Given the description of an element on the screen output the (x, y) to click on. 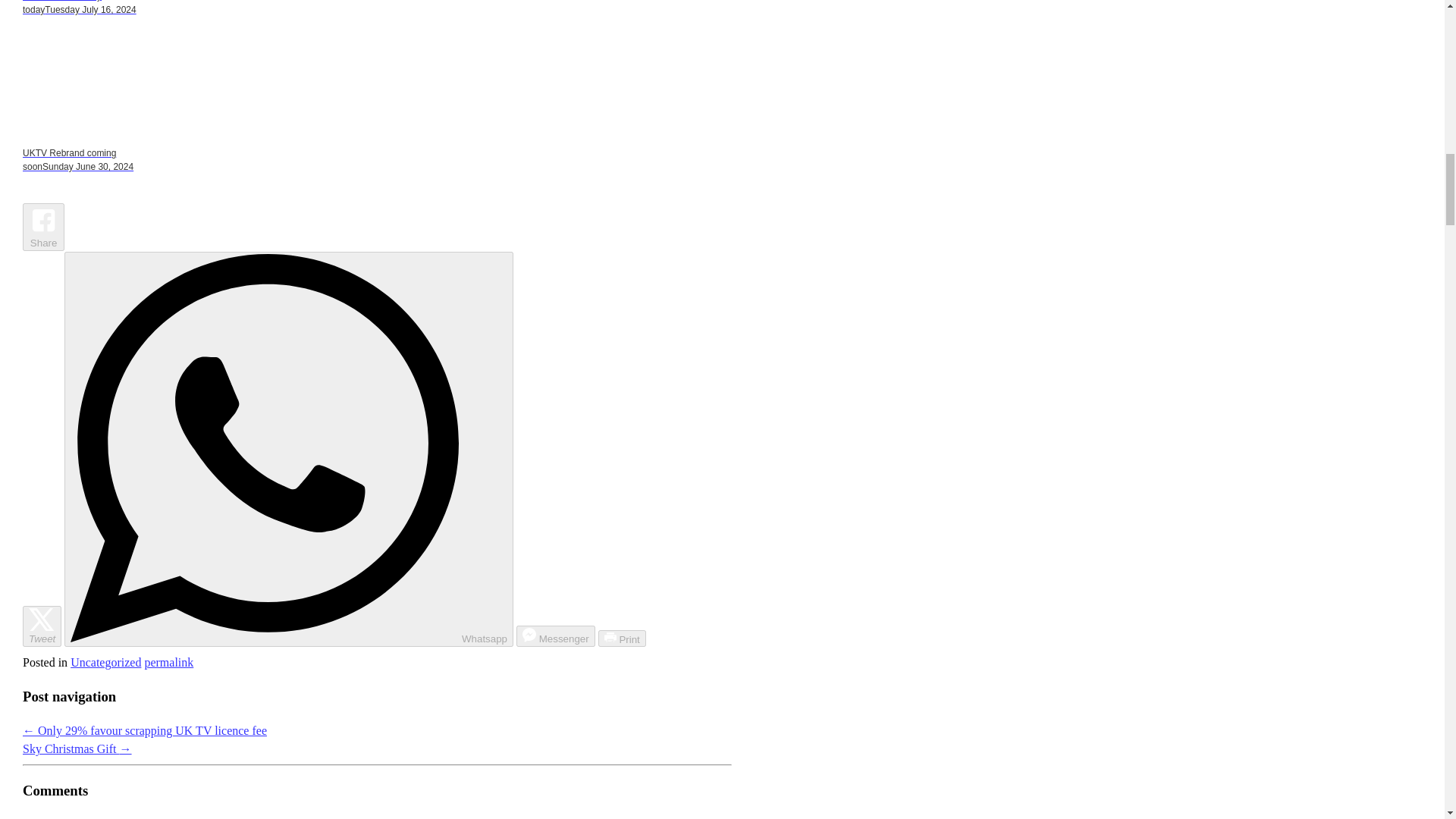
Permalink to BBC1 shows dominate 2016 TV ratings (168, 662)
